Given the description of an element on the screen output the (x, y) to click on. 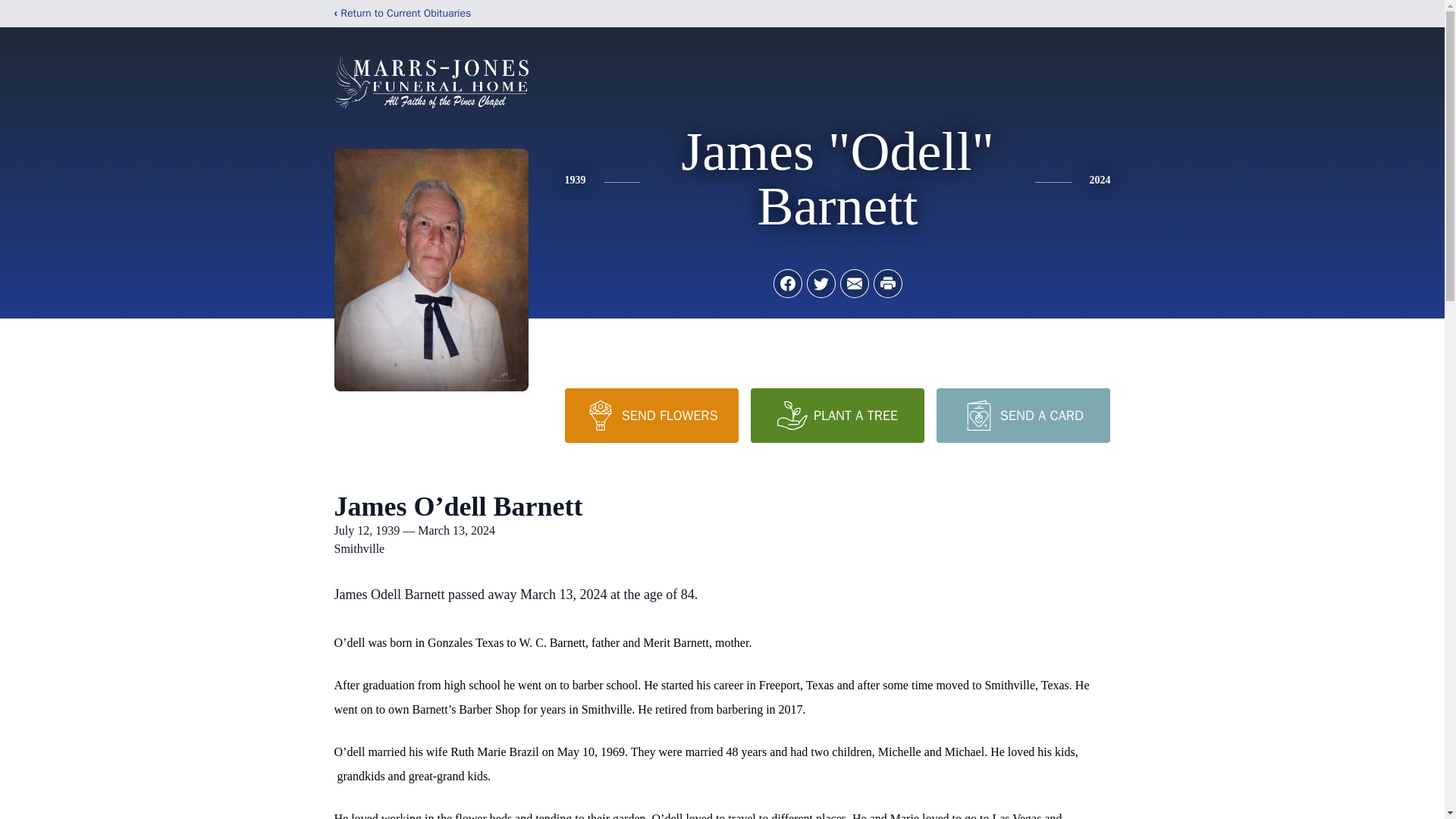
SEND A CARD (1022, 415)
SEND FLOWERS (651, 415)
PLANT A TREE (837, 415)
